Given the description of an element on the screen output the (x, y) to click on. 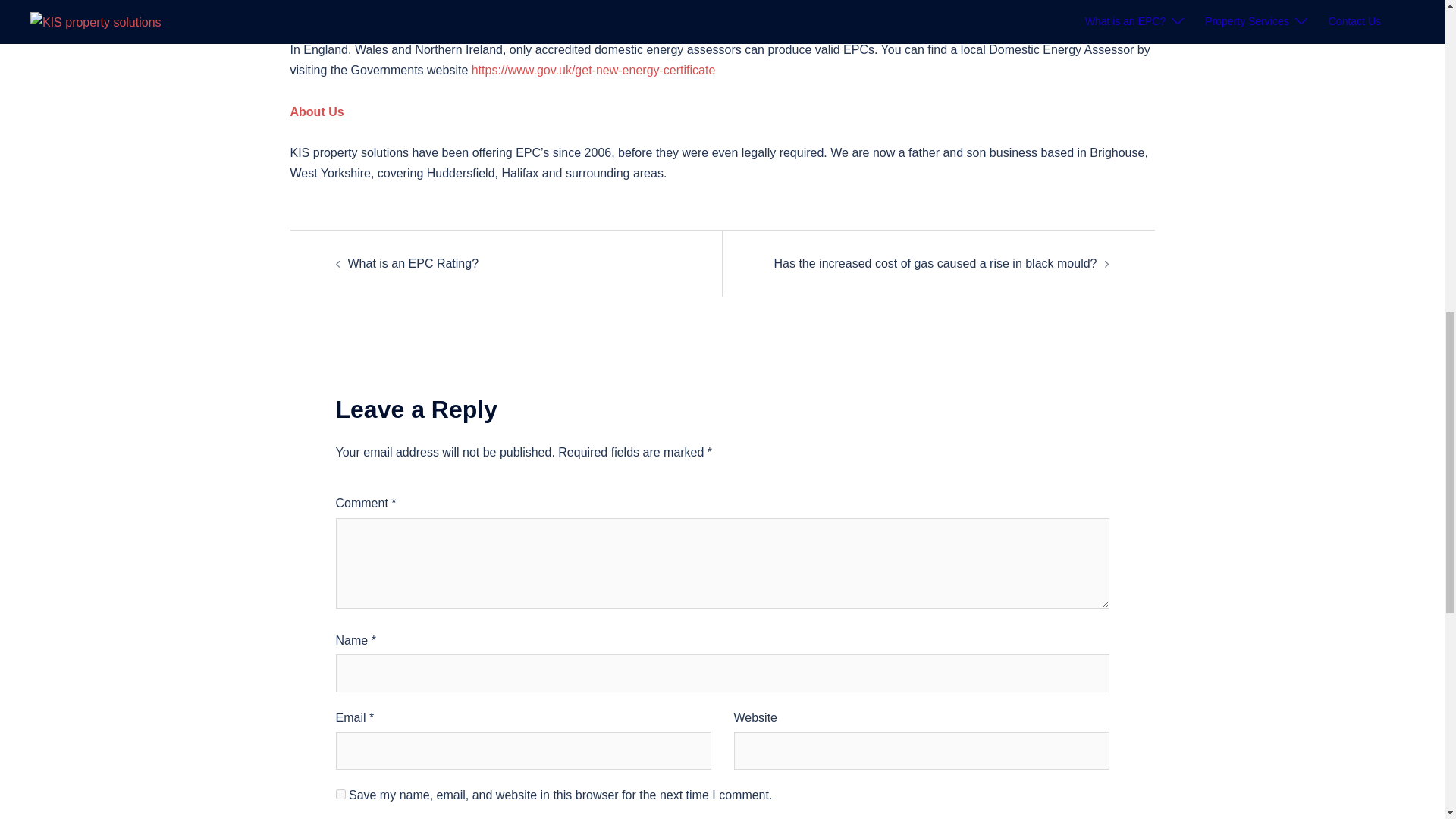
What is an EPC Rating? (413, 263)
yes (339, 794)
About Us (316, 111)
Has the increased cost of gas caused a rise in black mould? (934, 263)
